Given the description of an element on the screen output the (x, y) to click on. 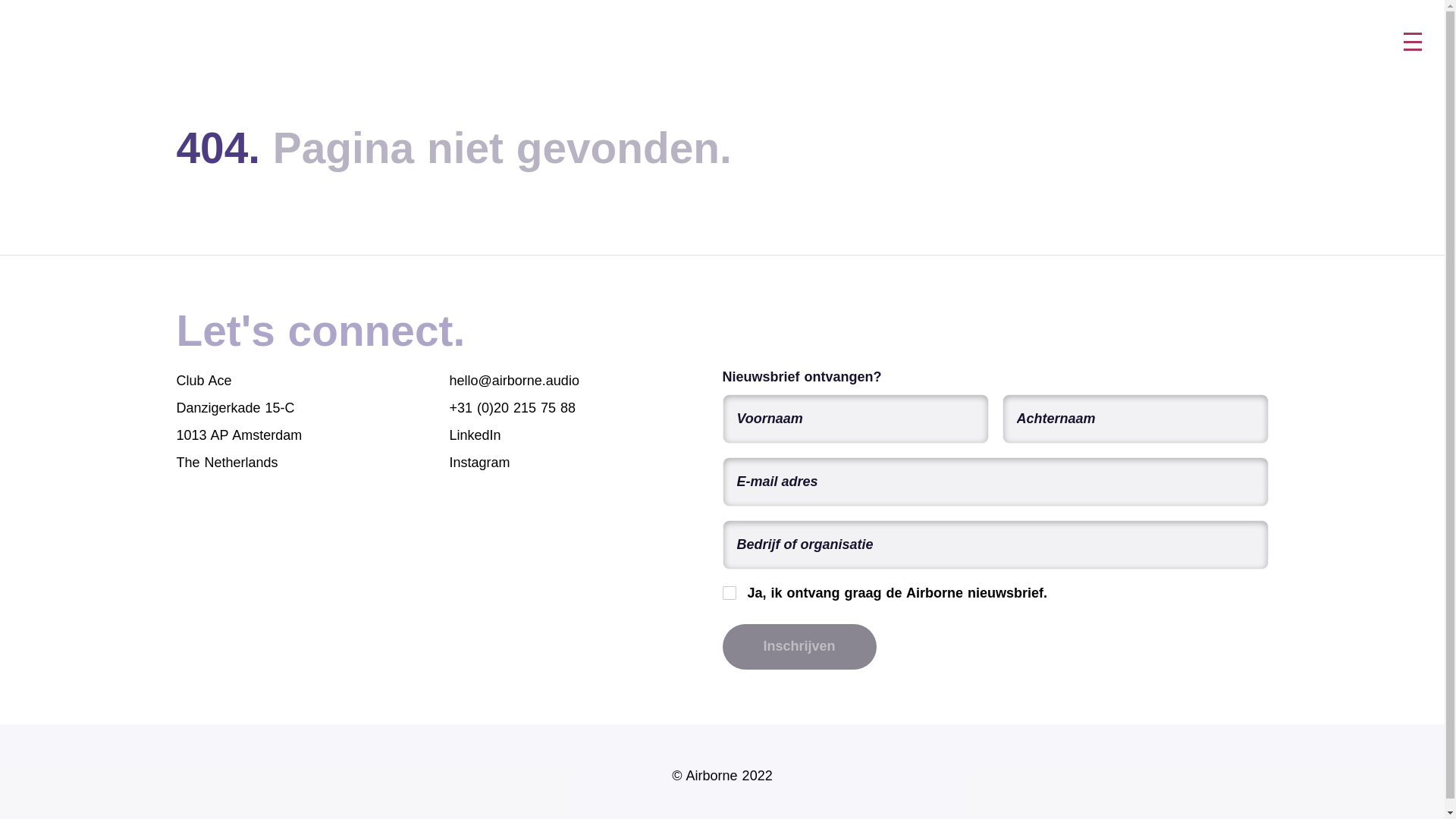
Instagram Element type: text (478, 462)
hello@airborne.audio Element type: text (513, 380)
LinkedIn Element type: text (474, 434)
+31 (0)20 215 75 88 Element type: text (511, 407)
Inschrijven Element type: text (798, 646)
